Given the description of an element on the screen output the (x, y) to click on. 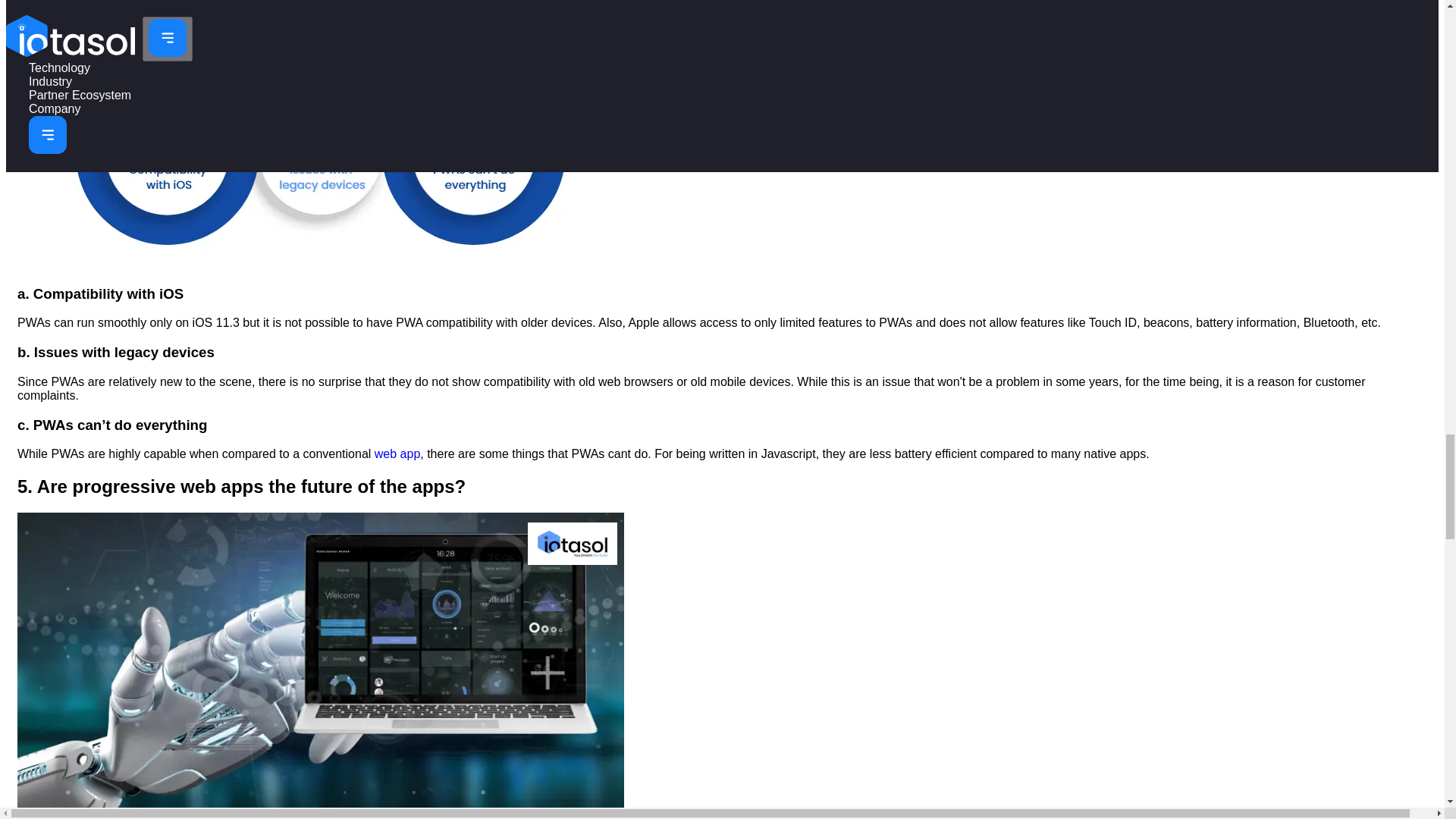
web app (397, 453)
